Given the description of an element on the screen output the (x, y) to click on. 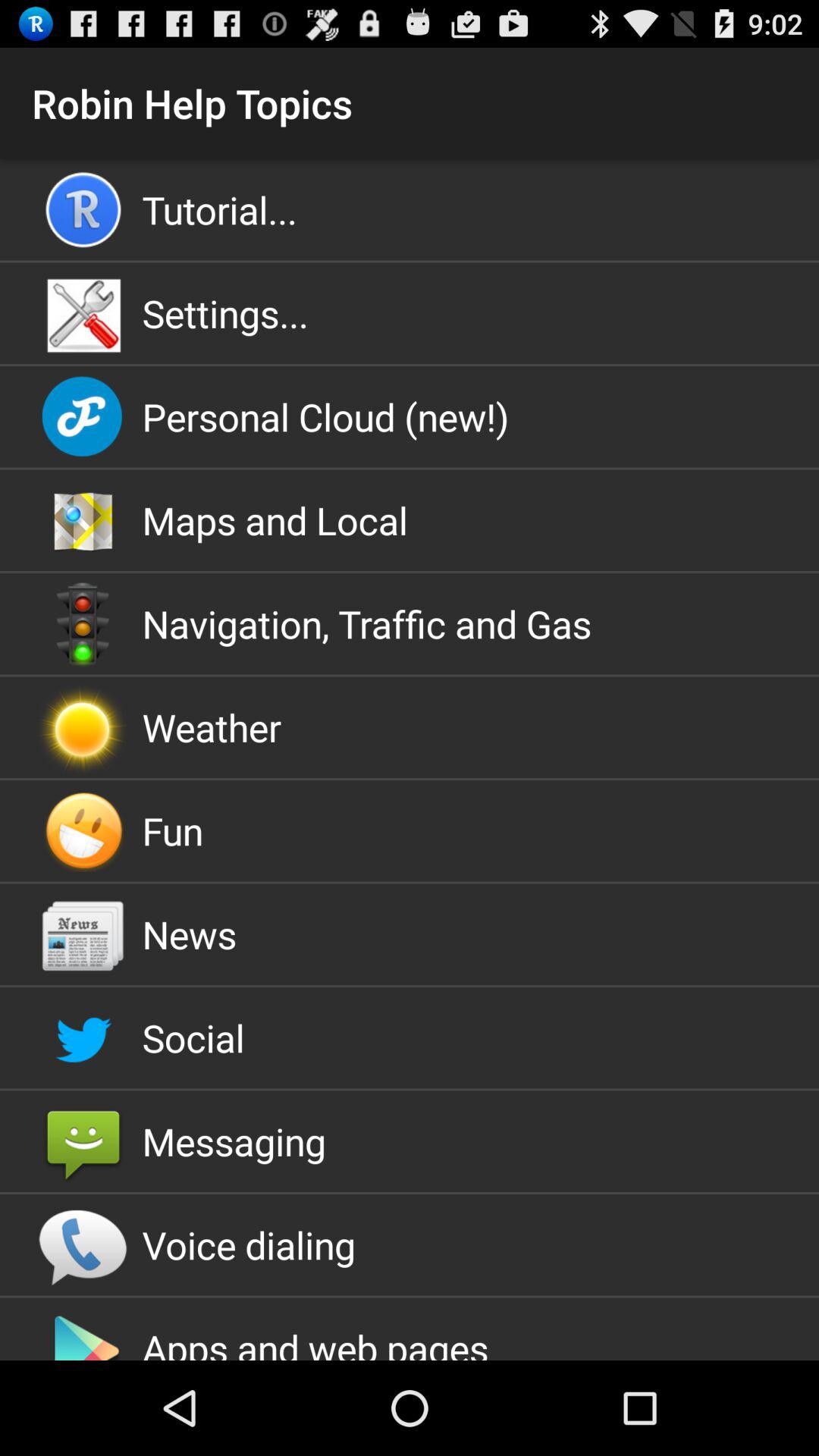
select the icon above the  social (409, 934)
